Given the description of an element on the screen output the (x, y) to click on. 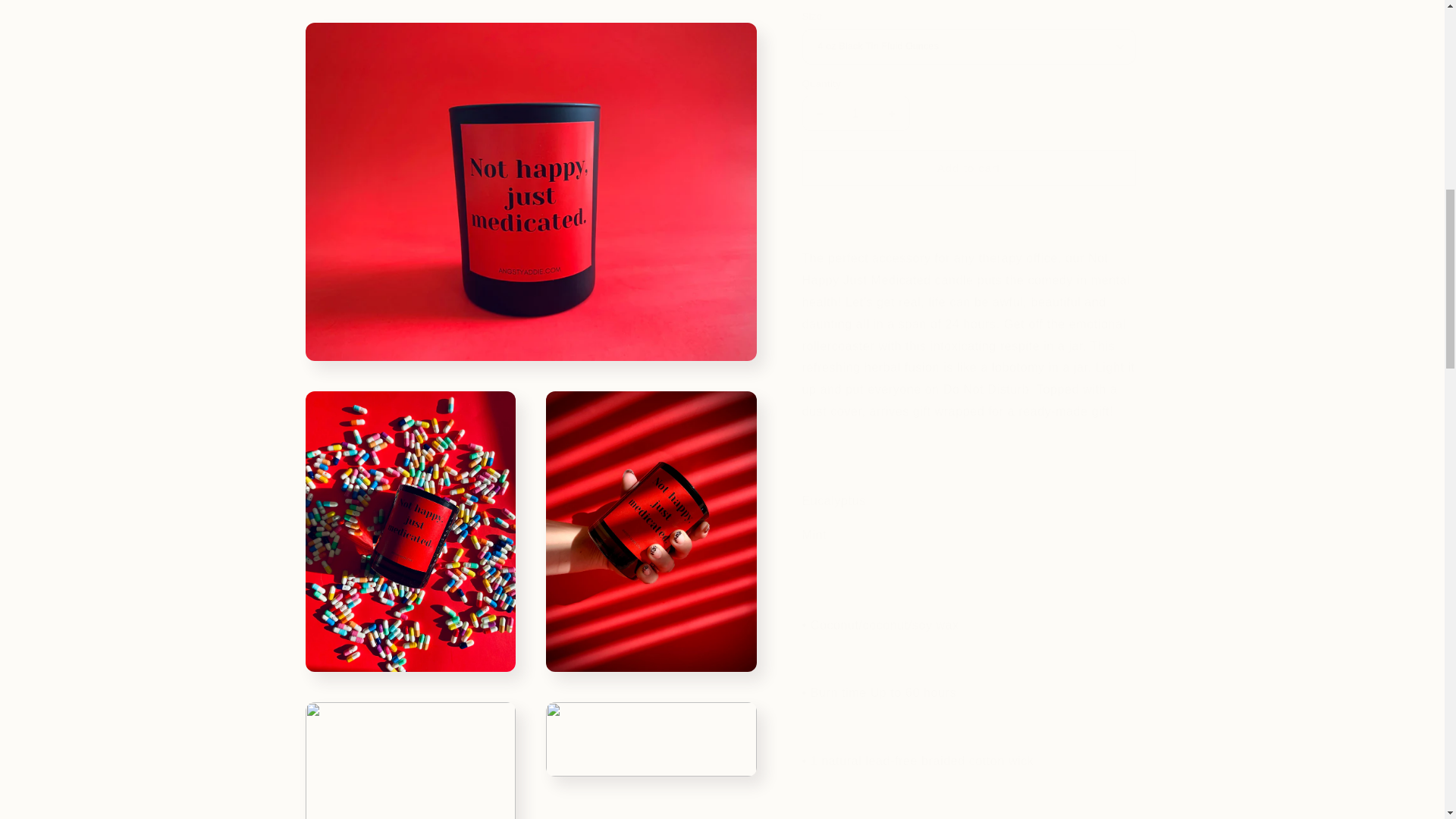
Open media 7 in modal (651, 400)
Open media 3 in modal (651, 37)
1 (856, 101)
Open media 10 in modal (409, 798)
Open media 5 in modal (651, 185)
Open media 8 in modal (409, 642)
Open media 2 in modal (409, 37)
Open media 6 in modal (409, 400)
Open media 9 in modal (651, 642)
Open media 4 in modal (409, 185)
